Given the description of an element on the screen output the (x, y) to click on. 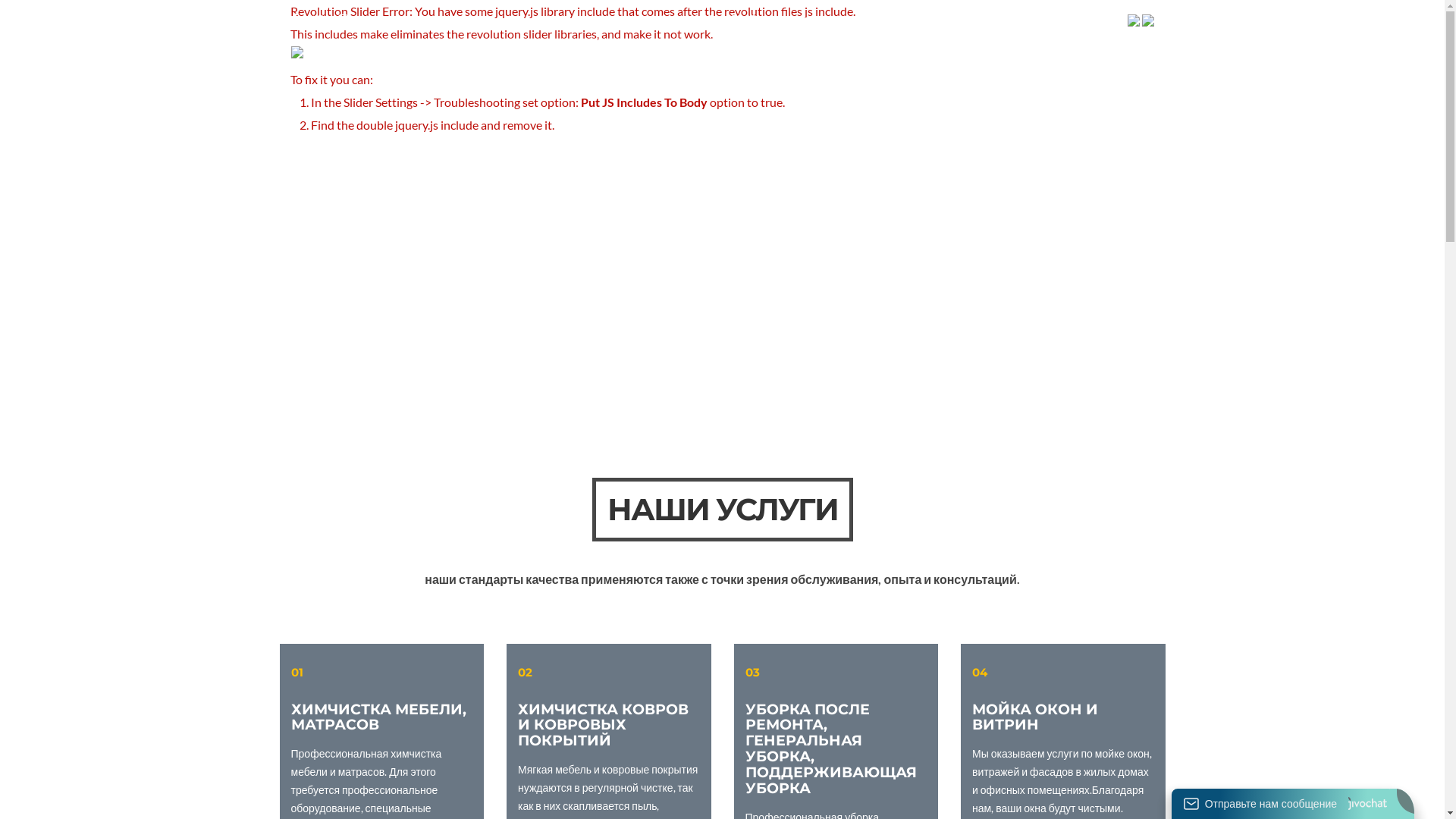
+375 29 2 787 787 Element type: text (1079, 18)
